Given the description of an element on the screen output the (x, y) to click on. 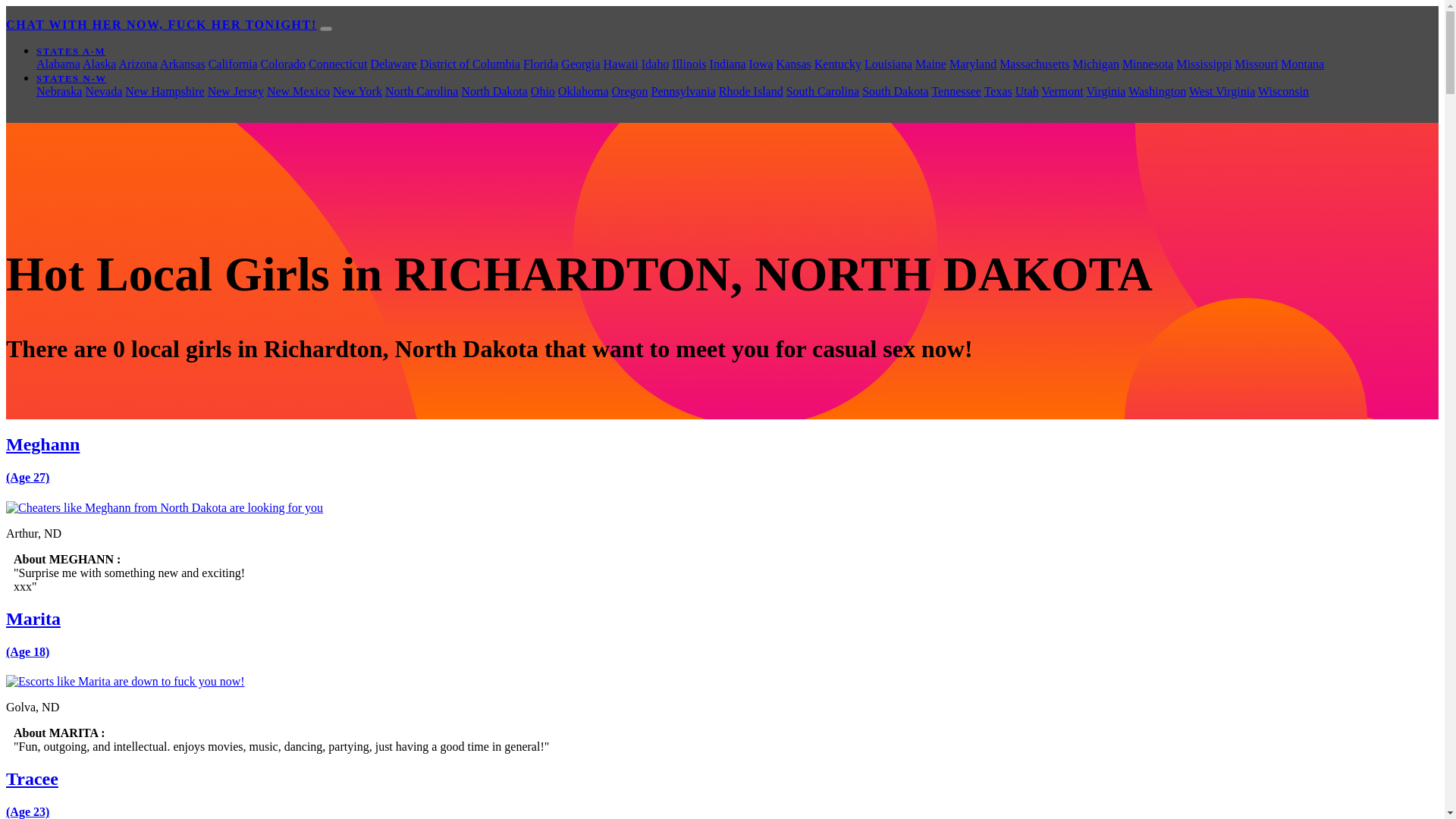
Michigan (1096, 63)
Colorado (282, 63)
New Mexico (298, 91)
STATES N-W (71, 78)
North Carolina (421, 91)
Georgia (579, 63)
Florida (539, 63)
New Hampshire (164, 91)
Idaho (655, 63)
Party with sexy local girls from Illinois (688, 63)
North Dakota (494, 91)
Meet local girls from Kansas (793, 63)
CHAT WITH HER NOW, FUCK HER TONIGHT! (161, 24)
Hook Up With Local singles in Georgia (579, 63)
Louisiana (888, 63)
